Given the description of an element on the screen output the (x, y) to click on. 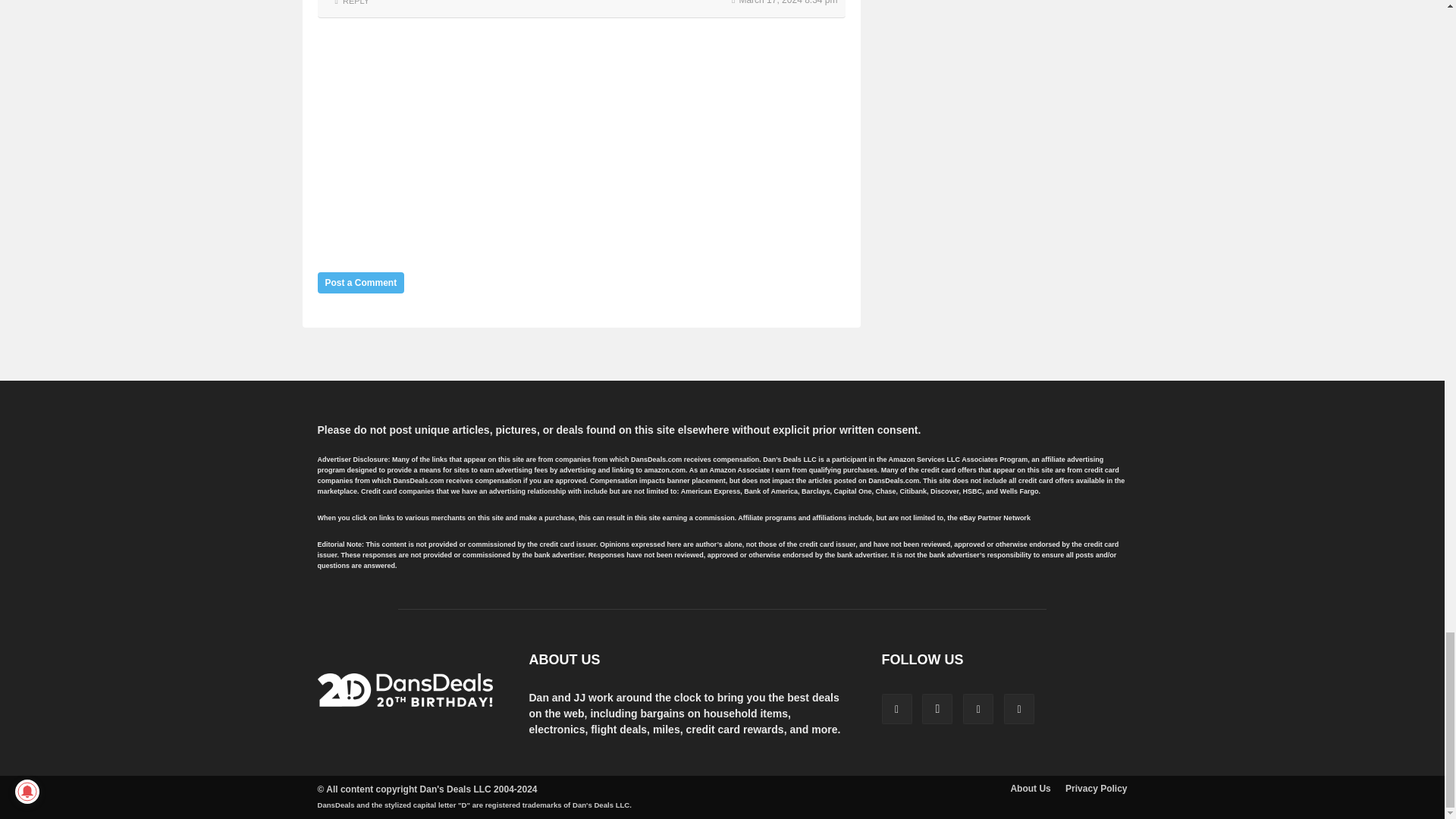
Post a Comment (360, 282)
